Given the description of an element on the screen output the (x, y) to click on. 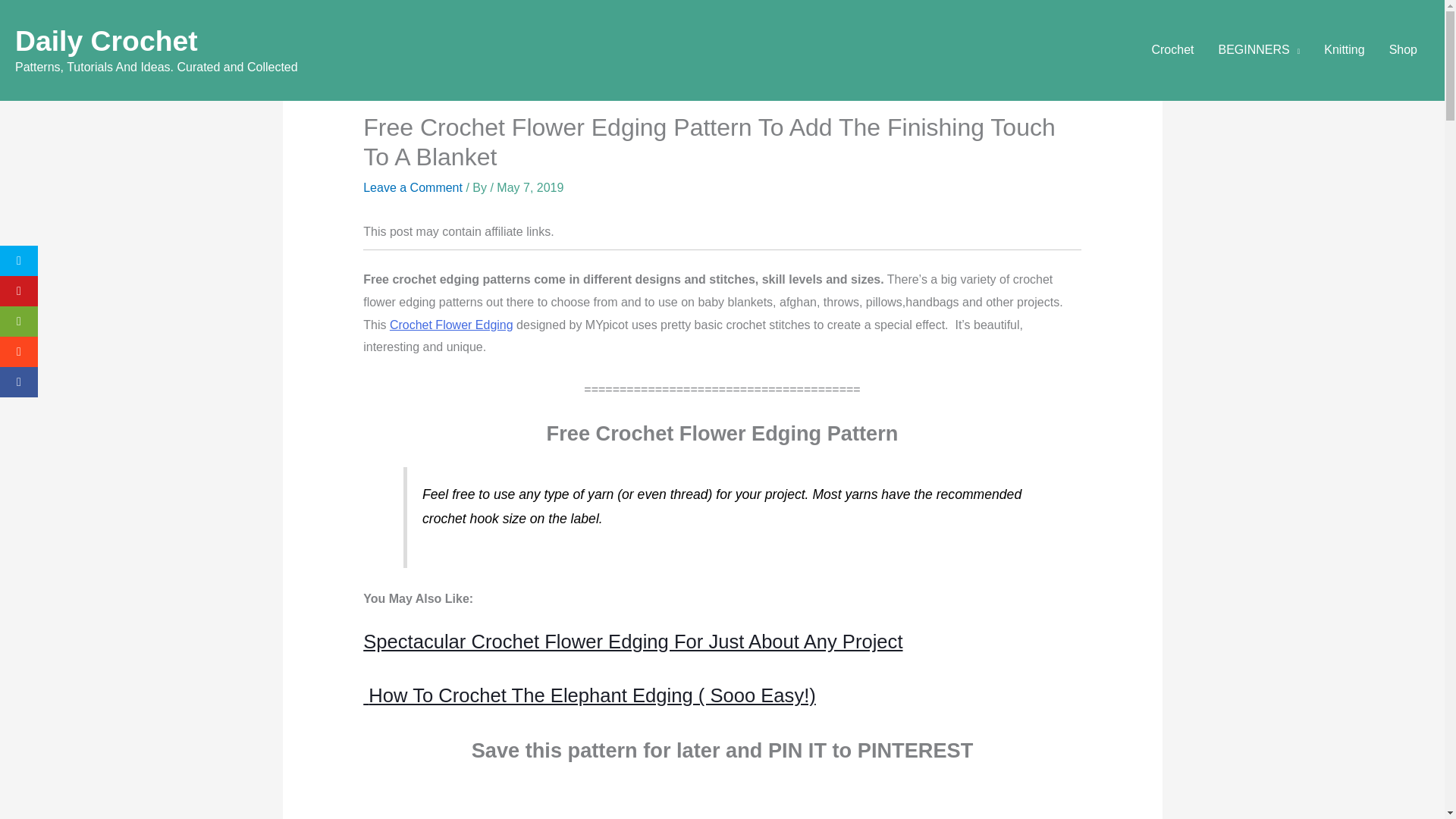
Spectacular Crochet Flower Edging For Just About Any Project (632, 640)
Knitting (1343, 49)
Shop (1403, 49)
Crochet Flower Edging (451, 324)
BEGINNERS (1258, 49)
Daily Crochet (106, 40)
Crochet (1171, 49)
Spectacular Crochet Flower Edging For Just About Any Project (632, 640)
Leave a Comment (412, 187)
